Given the description of an element on the screen output the (x, y) to click on. 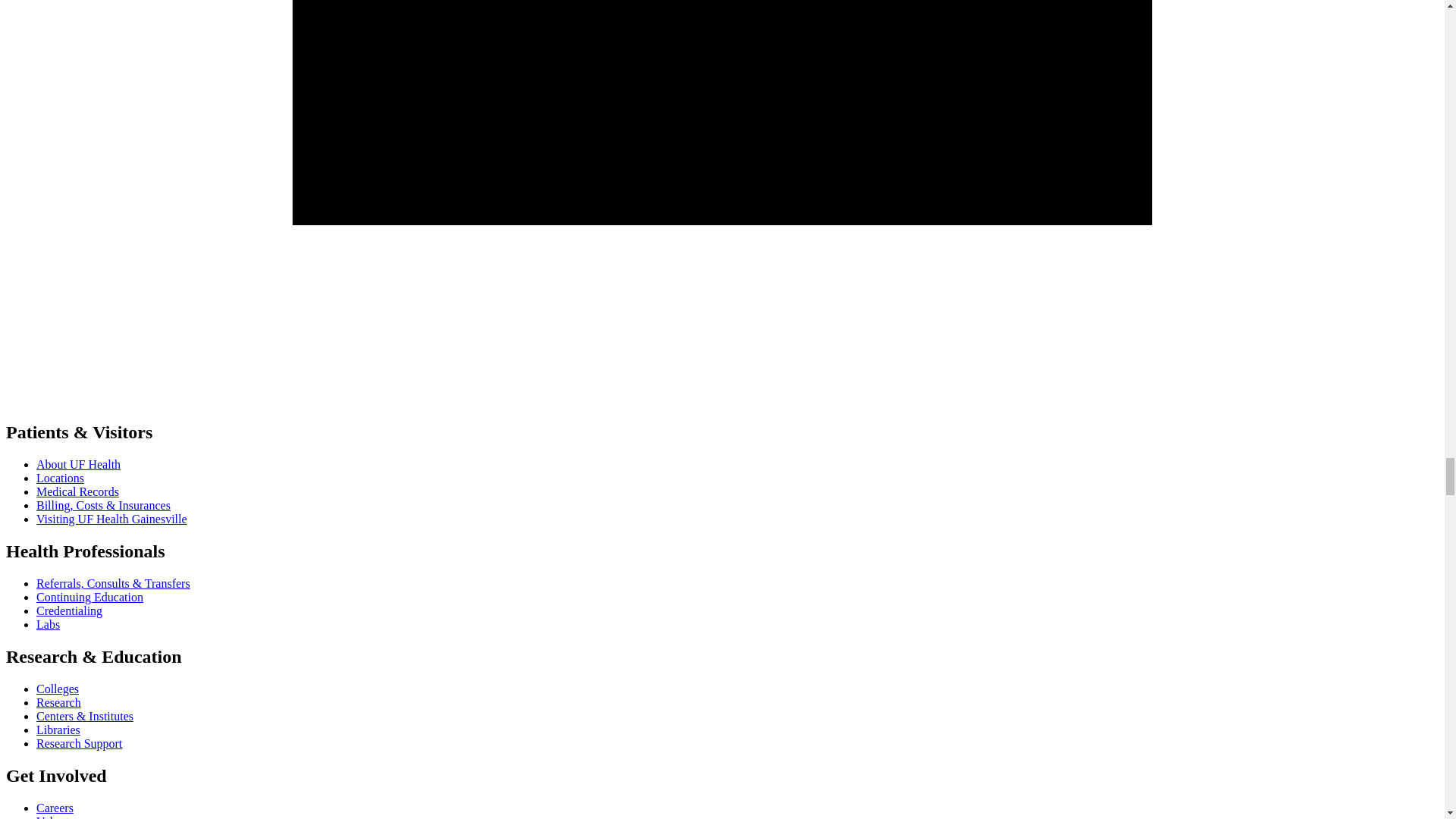
Visiting UF Health Gainesville (111, 518)
About UF Health (78, 463)
Medical Records (77, 491)
Locations (60, 477)
